Given the description of an element on the screen output the (x, y) to click on. 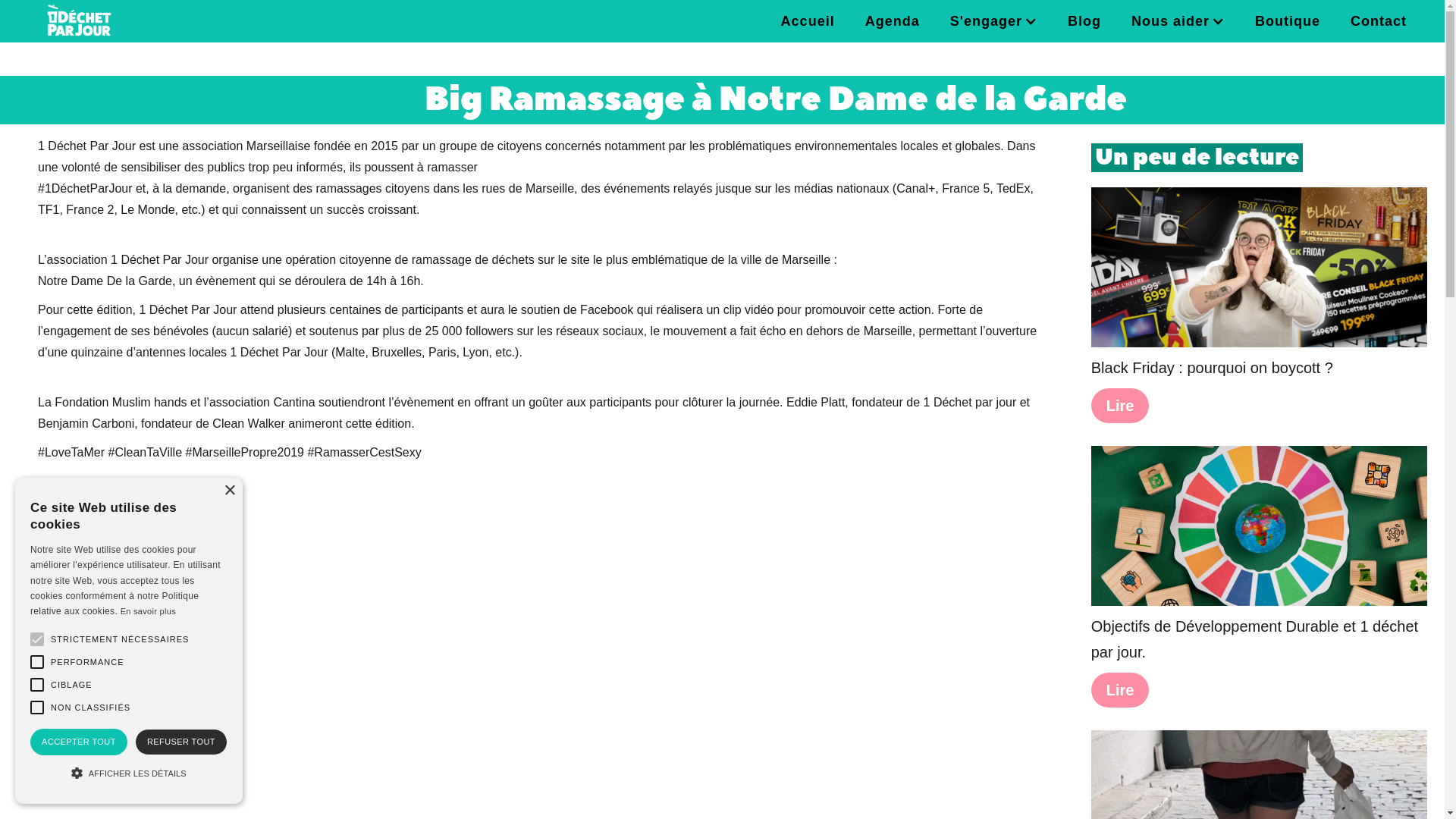
Lire Element type: text (1120, 689)
Blog Element type: text (1084, 20)
Agenda Element type: text (892, 20)
Contact Element type: text (1378, 20)
Accueil Element type: text (807, 20)
En savoir plus Element type: text (147, 610)
Boutique Element type: text (1287, 20)
Lire Element type: text (1120, 405)
